Given the description of an element on the screen output the (x, y) to click on. 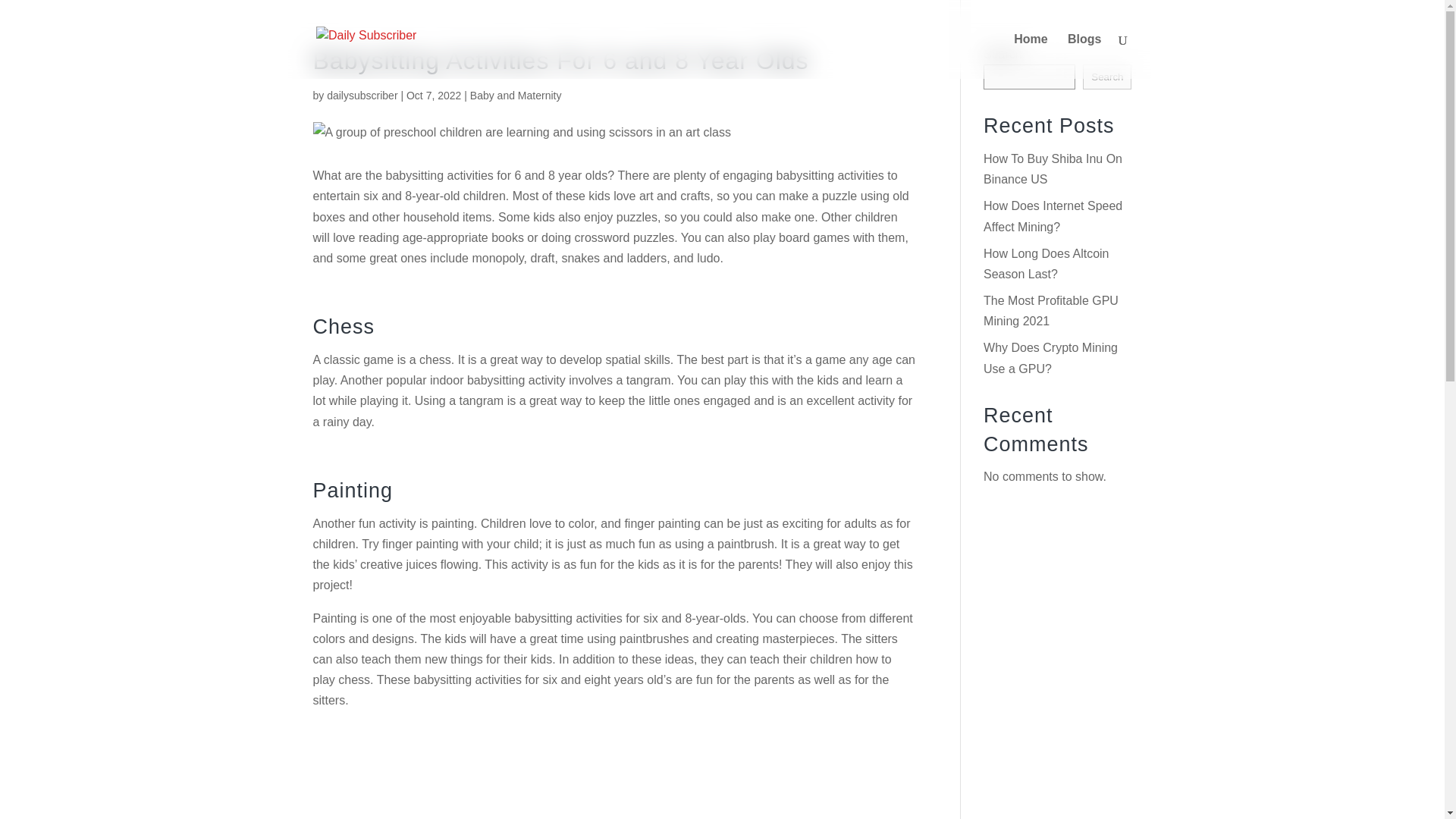
The Most Profitable GPU Mining 2021 (1051, 310)
How Does Internet Speed Affect Mining? (1053, 215)
dailysubscriber (361, 95)
Posts by dailysubscriber (361, 95)
How To Buy Shiba Inu On Binance US (1053, 168)
How Long Does Altcoin Season Last? (1046, 263)
Search (1107, 76)
Why Does Crypto Mining Use a GPU? (1051, 357)
Baby and Maternity (516, 95)
